Given the description of an element on the screen output the (x, y) to click on. 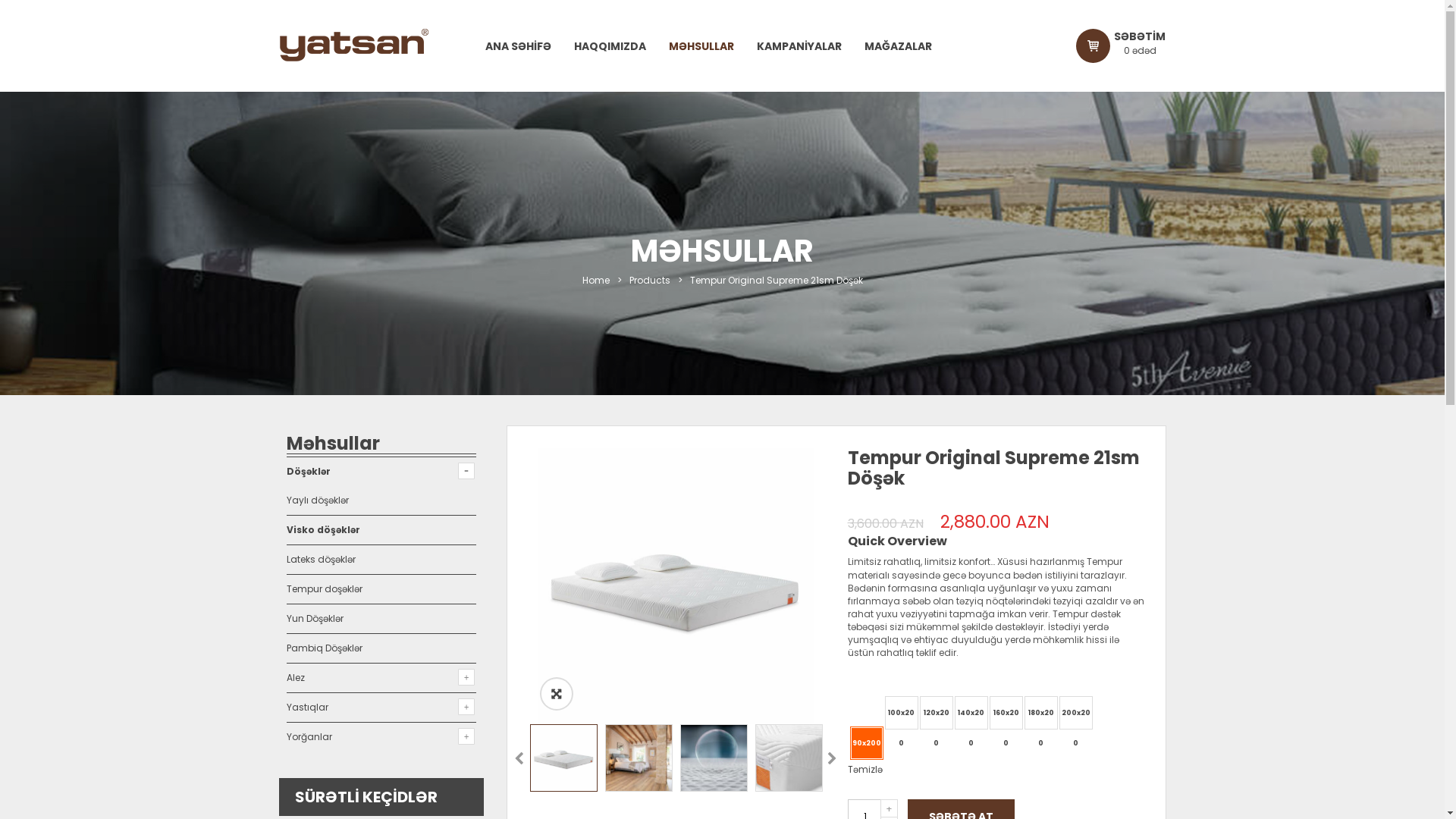
Products Element type: text (649, 279)
Alez Element type: text (295, 677)
Next Element type: text (831, 759)
Home Element type: text (595, 279)
KAMPANIYALAR Element type: text (799, 46)
Ori54-original-supreme-21cm-yatak-636893699267148960 Element type: hover (674, 586)
HAQQIMIZDA Element type: text (609, 46)
Previous Element type: text (519, 759)
